Given the description of an element on the screen output the (x, y) to click on. 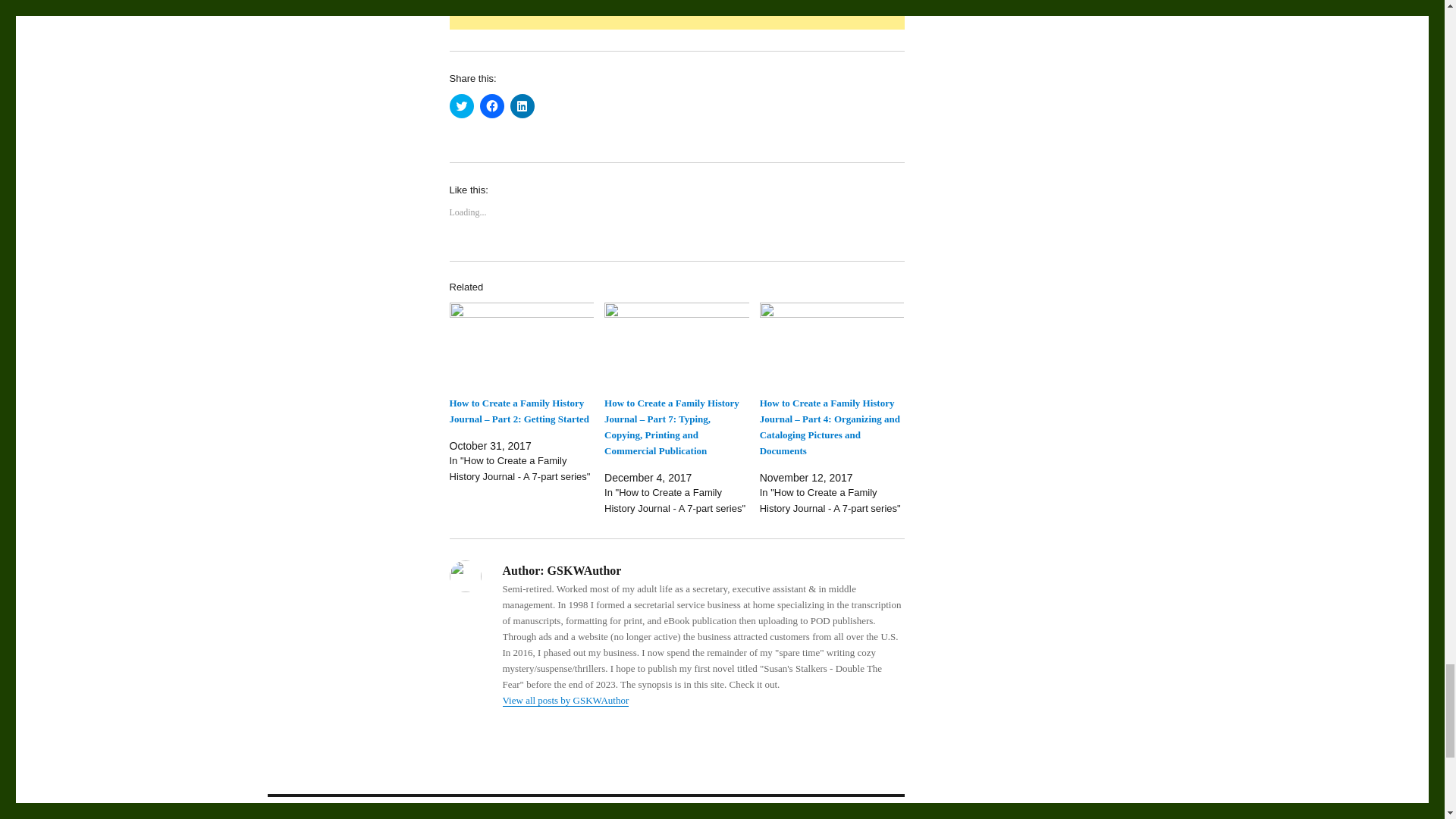
Click to share on Twitter (460, 105)
View all posts by GSKWAuthor (565, 699)
Click to share on Facebook (491, 105)
Click to share on LinkedIn (521, 105)
